Given the description of an element on the screen output the (x, y) to click on. 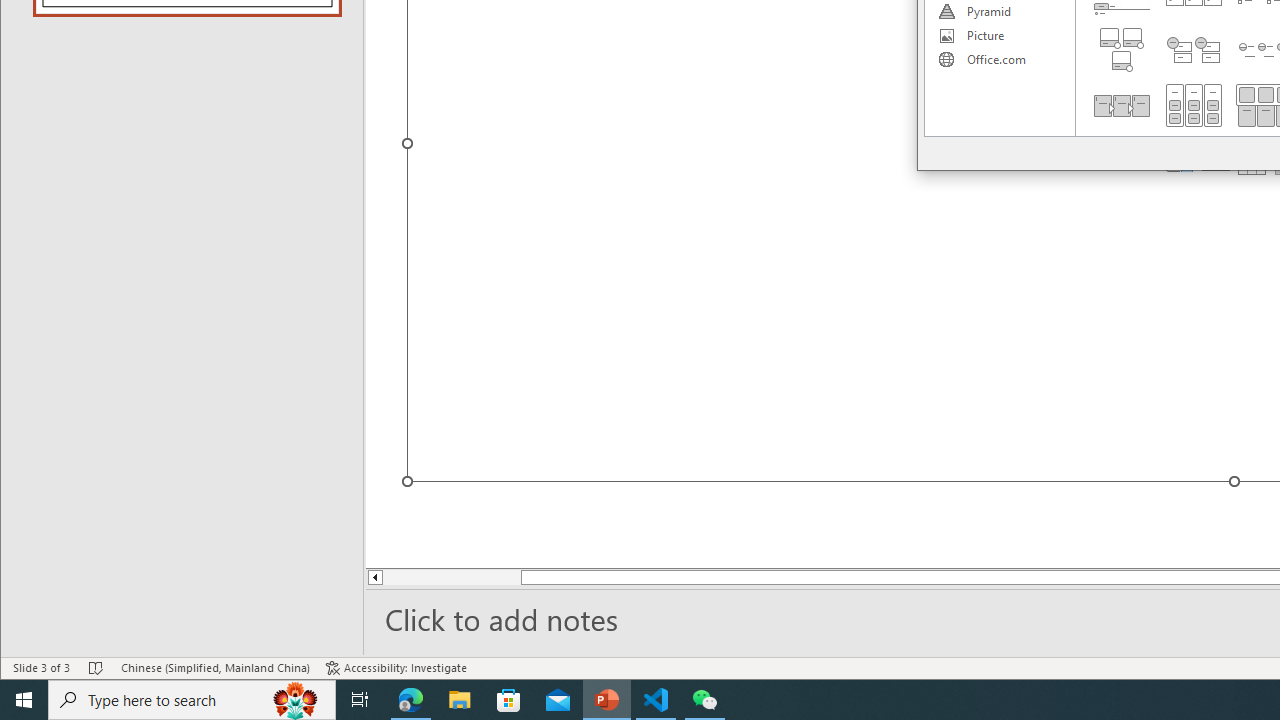
Grouped List (1194, 105)
Bending Picture Accent List (1121, 49)
Picture (999, 35)
Pyramid (999, 11)
Microsoft Edge - 1 running window (411, 699)
Office.com (999, 60)
